Given the description of an element on the screen output the (x, y) to click on. 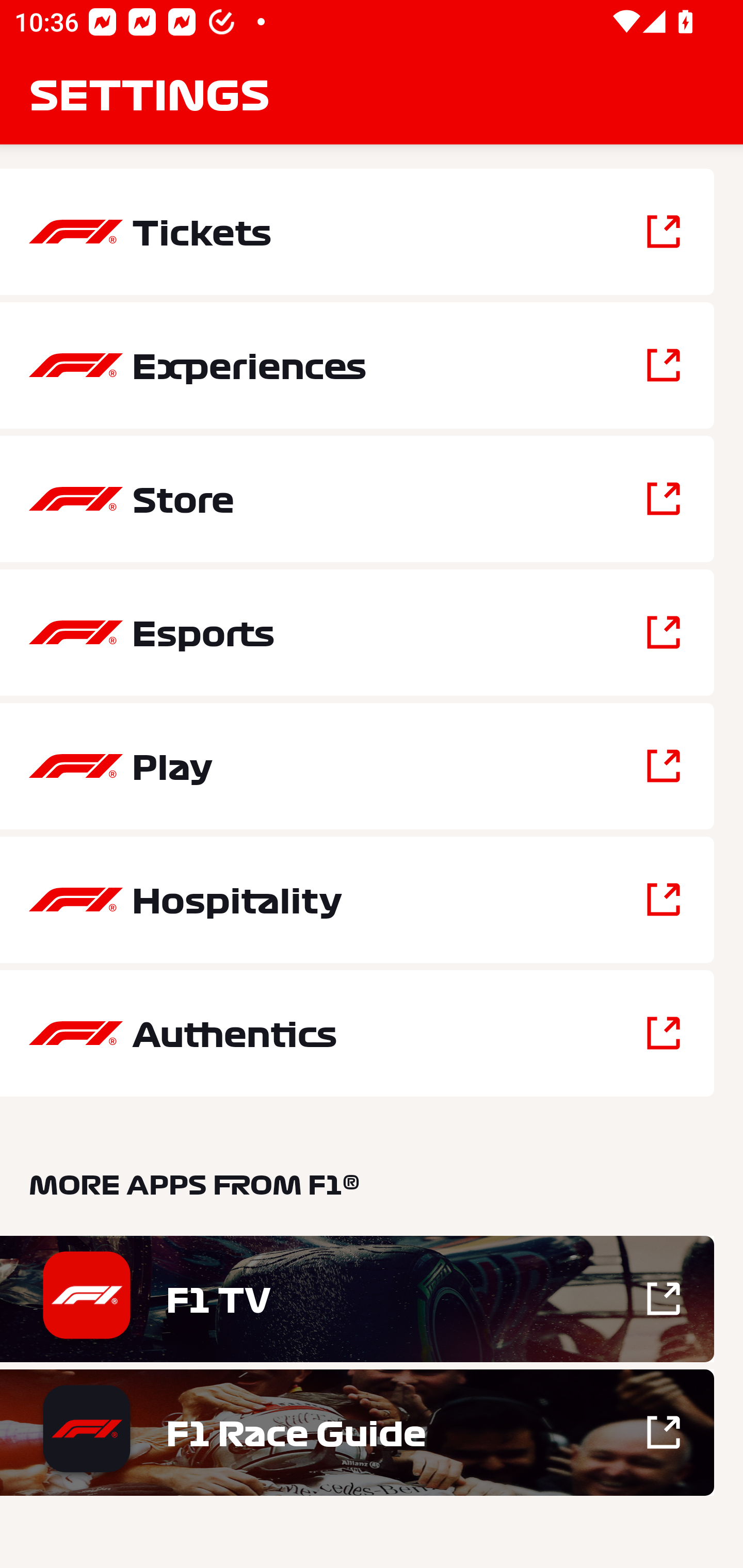
Tickets (357, 231)
Experiences (357, 365)
Store (357, 498)
Esports (357, 632)
Play (357, 765)
Hospitality (357, 899)
Authentics (357, 1033)
F1 TV (357, 1298)
F1 Race Guide (357, 1431)
